Given the description of an element on the screen output the (x, y) to click on. 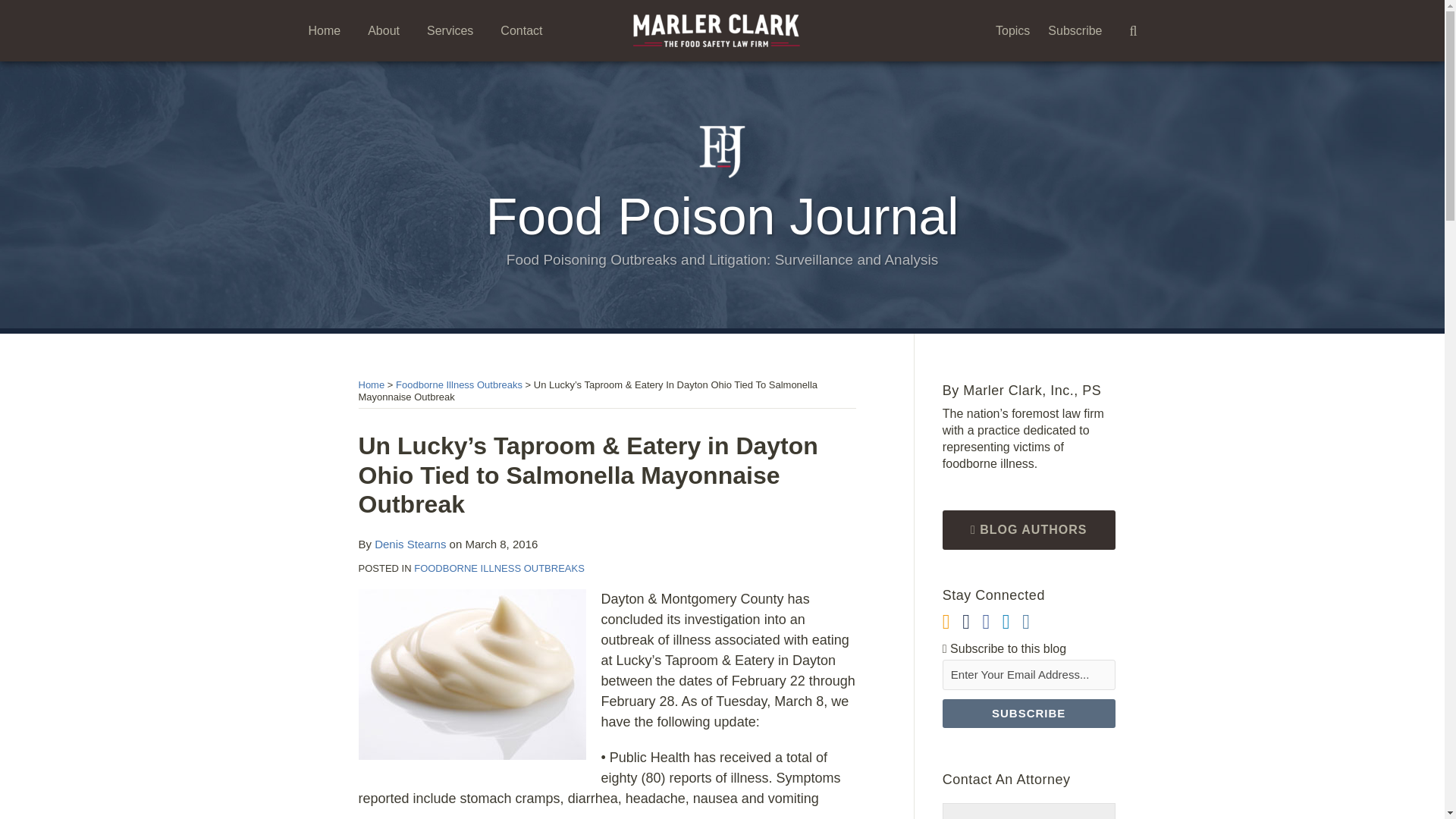
Denis Stearns (409, 543)
Subscribe (1075, 30)
Subscribe (1028, 713)
Home (371, 384)
FOODBORNE ILLNESS OUTBREAKS (499, 568)
Home (323, 30)
Food Poison Journal (722, 215)
About (383, 30)
BLOG AUTHORS (1028, 529)
Topics (1012, 30)
